Given the description of an element on the screen output the (x, y) to click on. 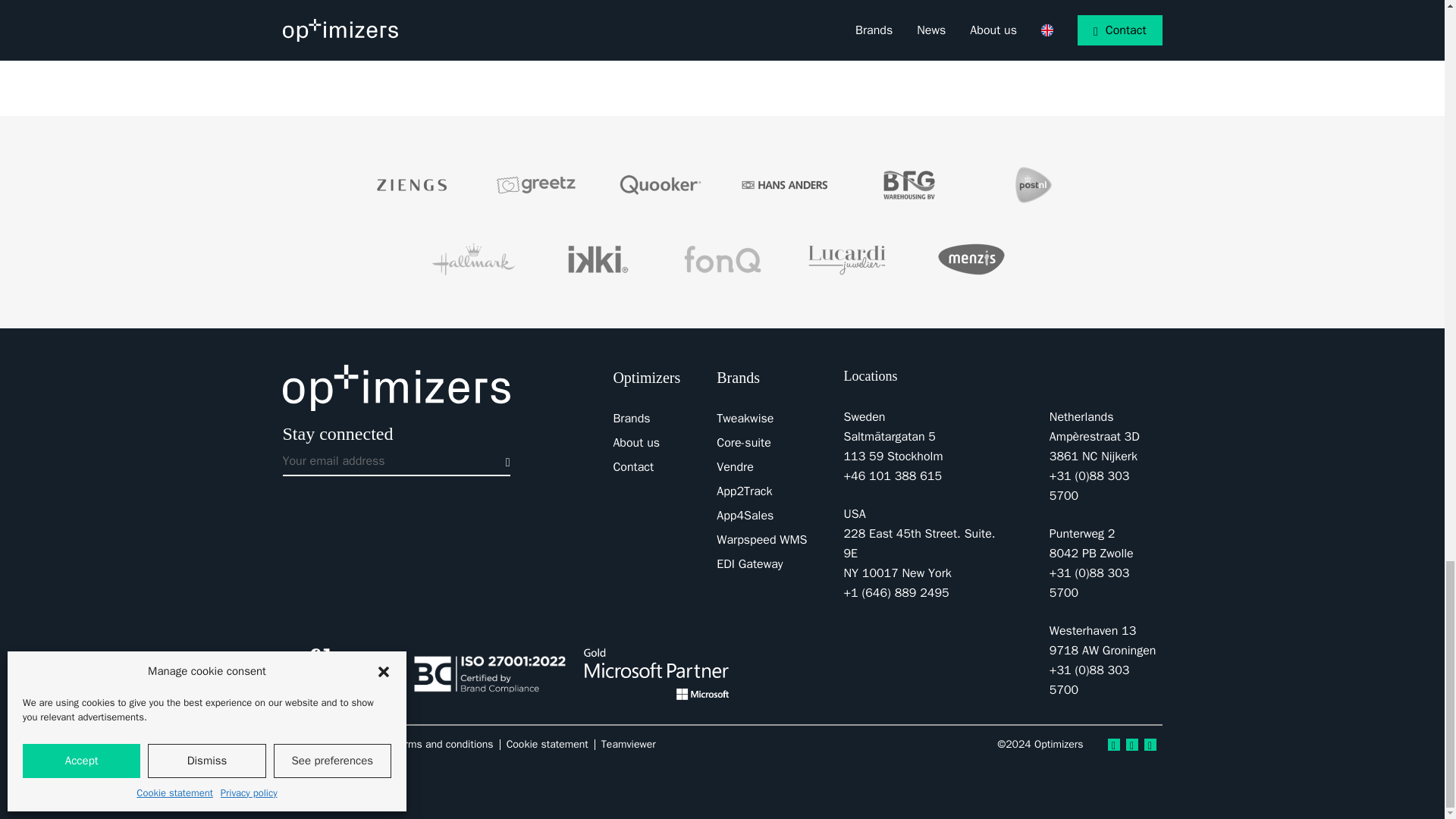
Optimizers (395, 387)
Brands (630, 418)
Youtube (1149, 744)
Core-suite (743, 442)
Subscribe (503, 459)
Instagram (1131, 744)
LinkedIn (1112, 744)
Contact (632, 467)
App4Sales (744, 515)
Tweakwise (744, 418)
Vendre (735, 467)
Warpspeed WMS (761, 539)
App2Track (743, 491)
About us (635, 442)
EDI Gateway (749, 563)
